Given the description of an element on the screen output the (x, y) to click on. 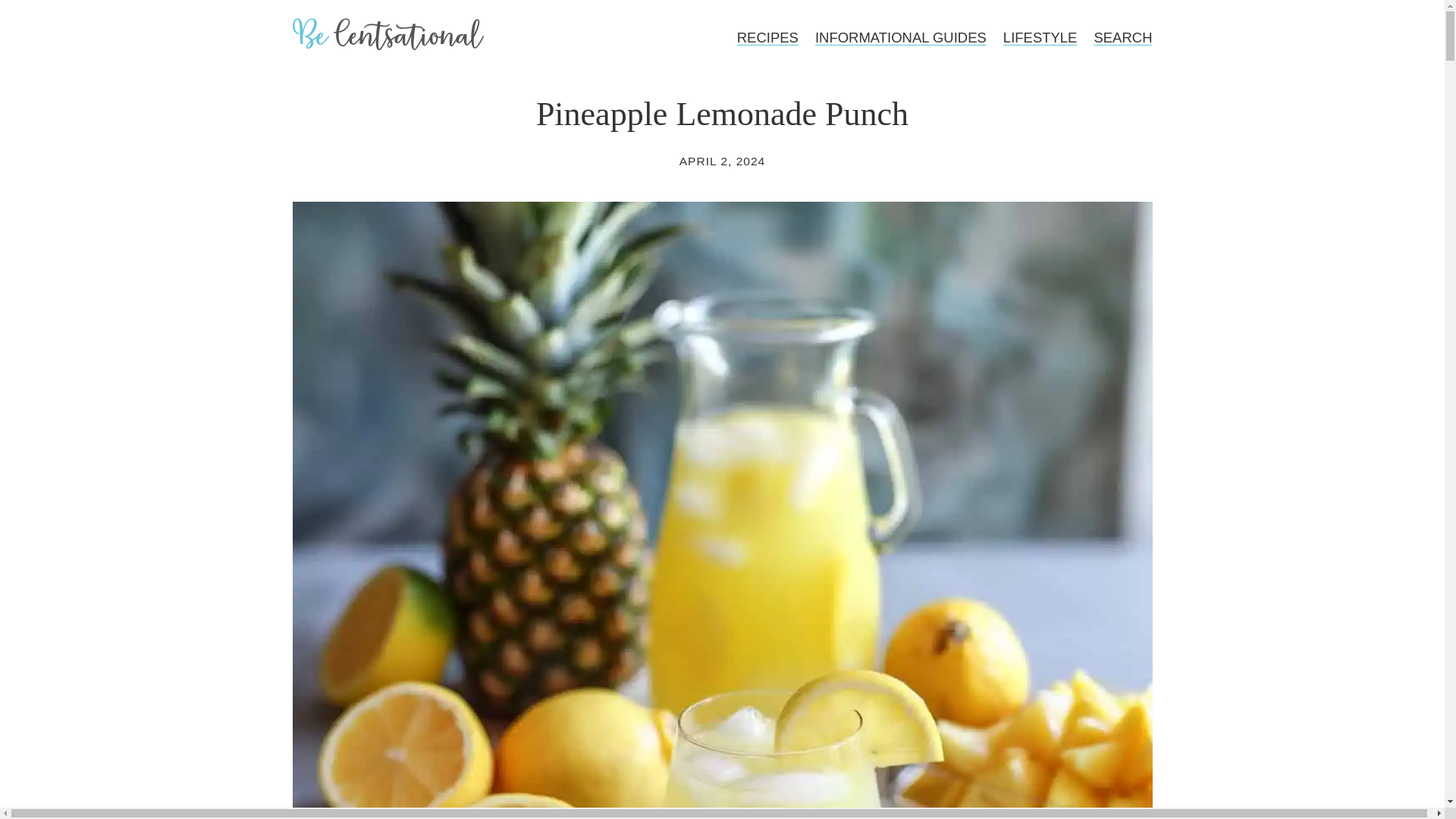
INFORMATIONAL GUIDES (900, 37)
RECIPES (768, 37)
SEARCH (1122, 37)
LIFESTYLE (1039, 37)
